Given the description of an element on the screen output the (x, y) to click on. 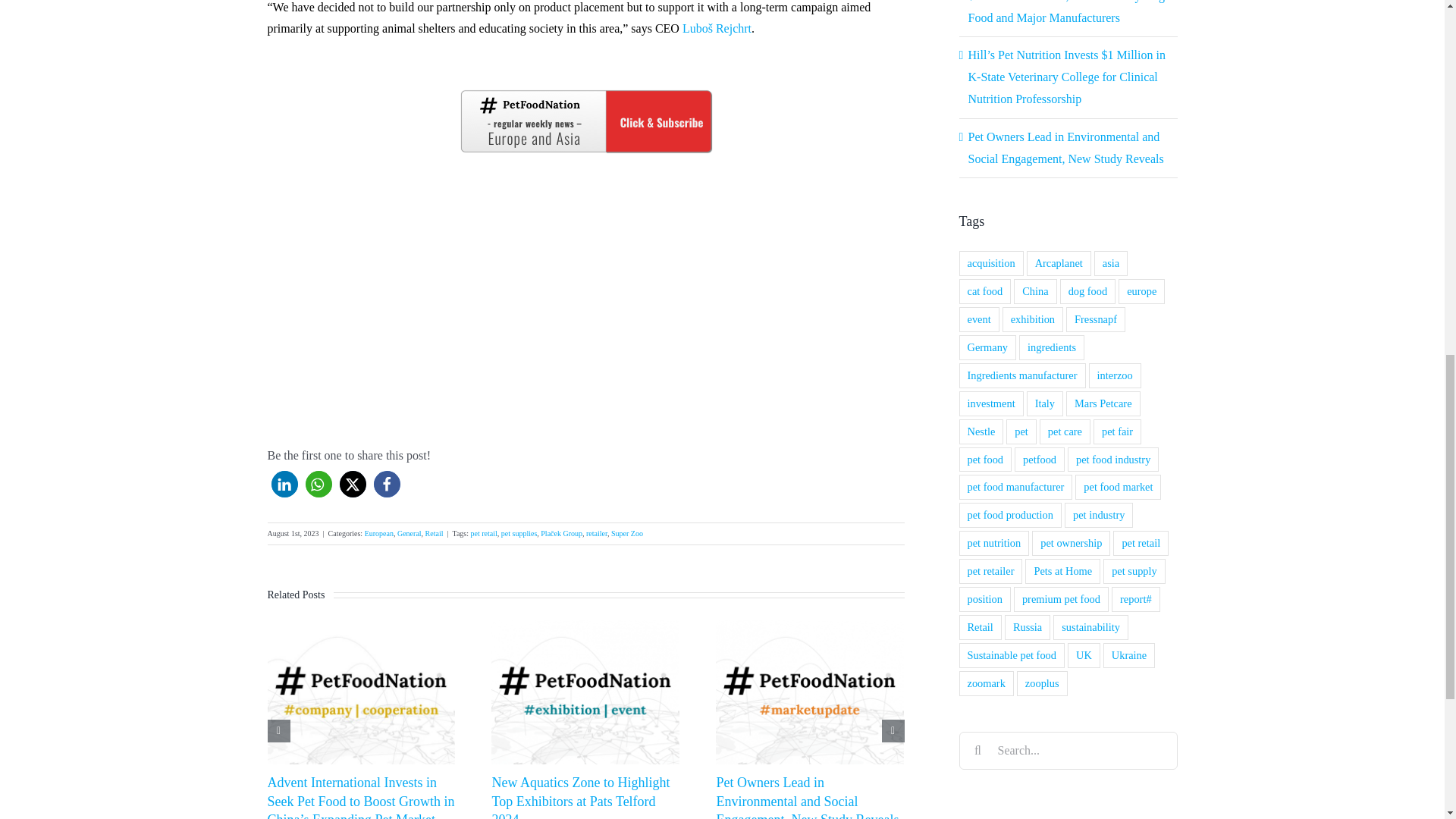
Share on LinkedIn (284, 483)
General (409, 533)
European (379, 533)
Share on Facebook (385, 483)
Retail (434, 533)
pet retail (483, 533)
pet supplies (518, 533)
Share on Whatsapp (317, 483)
